Given the description of an element on the screen output the (x, y) to click on. 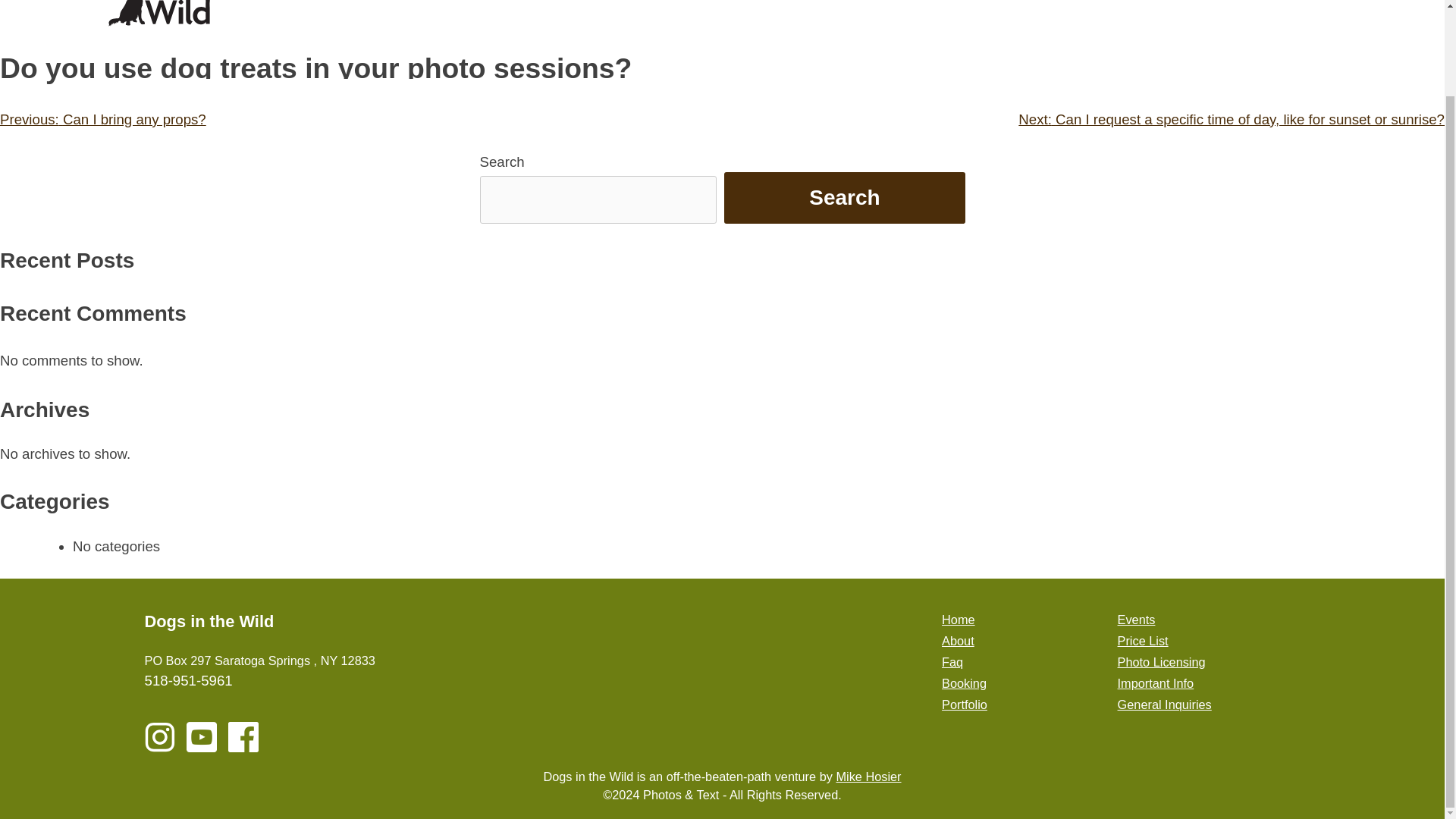
Booking (964, 683)
Events (1137, 619)
General Inquiries (1164, 704)
Photo Licensing (1161, 662)
Search (843, 197)
Portfolio (964, 704)
About (958, 640)
Mike Hosier (868, 775)
Price List (1143, 640)
Faq (952, 662)
